Given the description of an element on the screen output the (x, y) to click on. 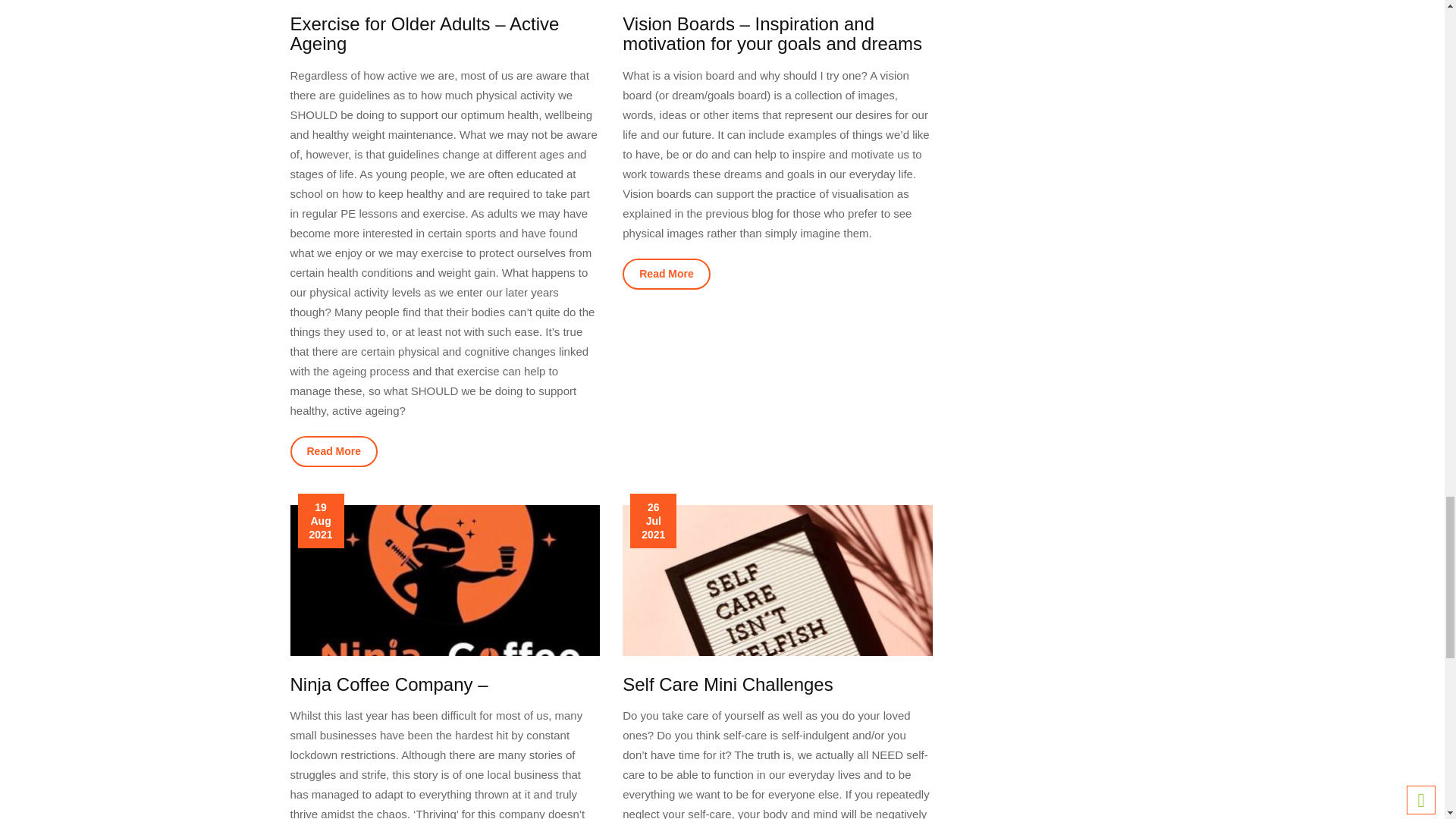
Read More (333, 450)
